Given the description of an element on the screen output the (x, y) to click on. 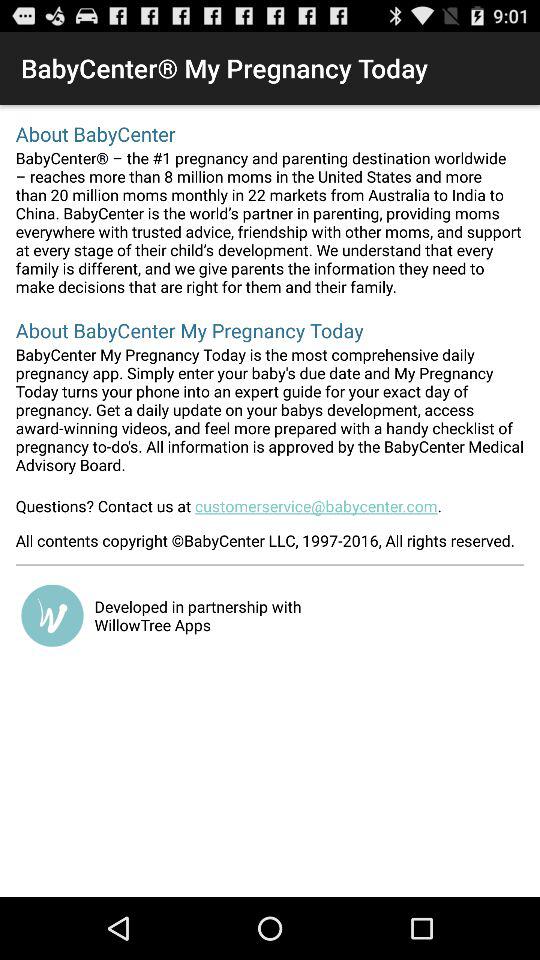
open app above all contents copyright item (269, 512)
